Given the description of an element on the screen output the (x, y) to click on. 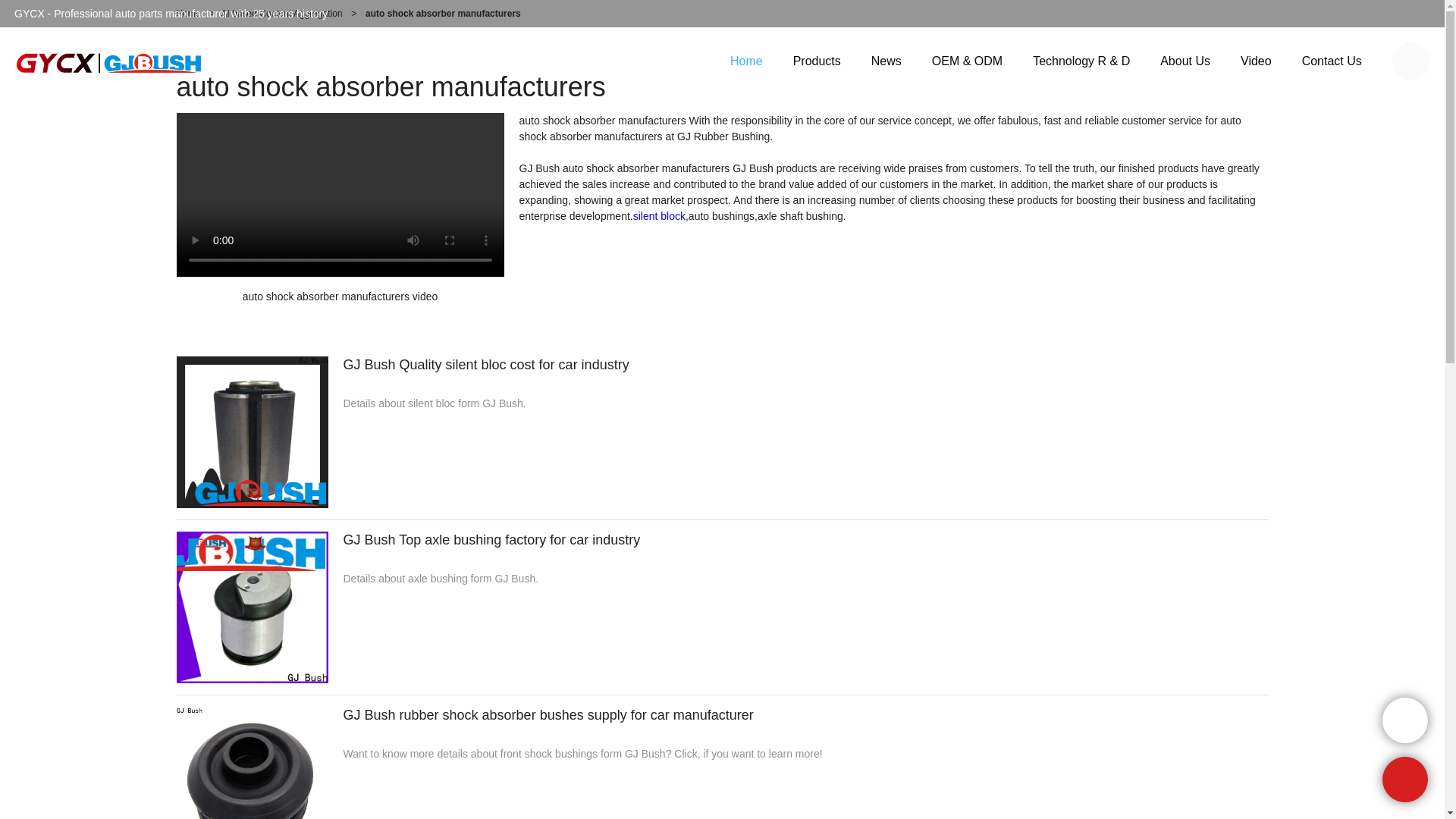
Products (816, 61)
About Us (1184, 61)
AI based Content Aggregation (281, 13)
Video (1256, 61)
Home (745, 61)
silent block (659, 215)
Contact Us (1332, 61)
Home (188, 13)
